Given the description of an element on the screen output the (x, y) to click on. 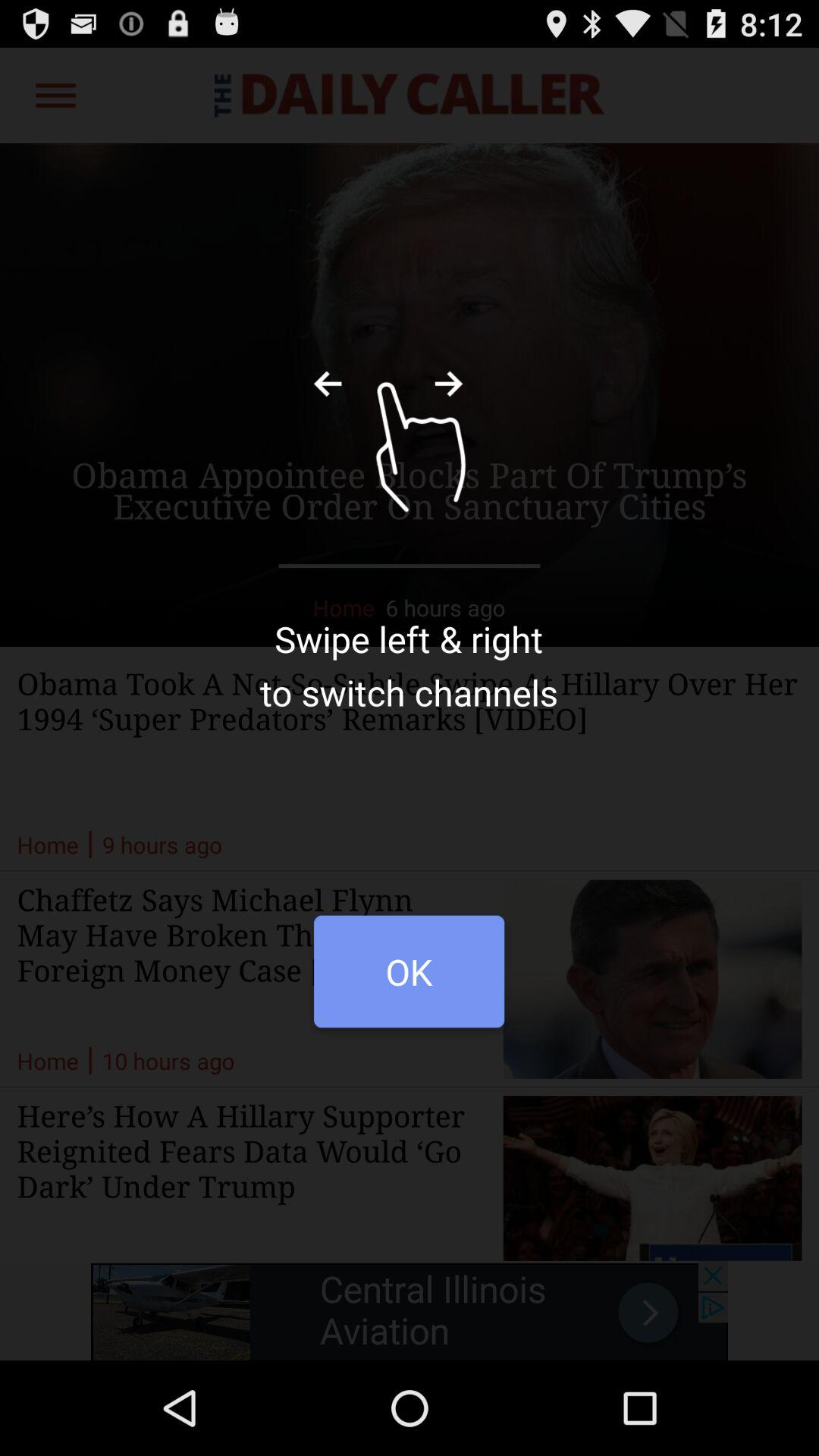
scroll until the ok item (408, 979)
